Given the description of an element on the screen output the (x, y) to click on. 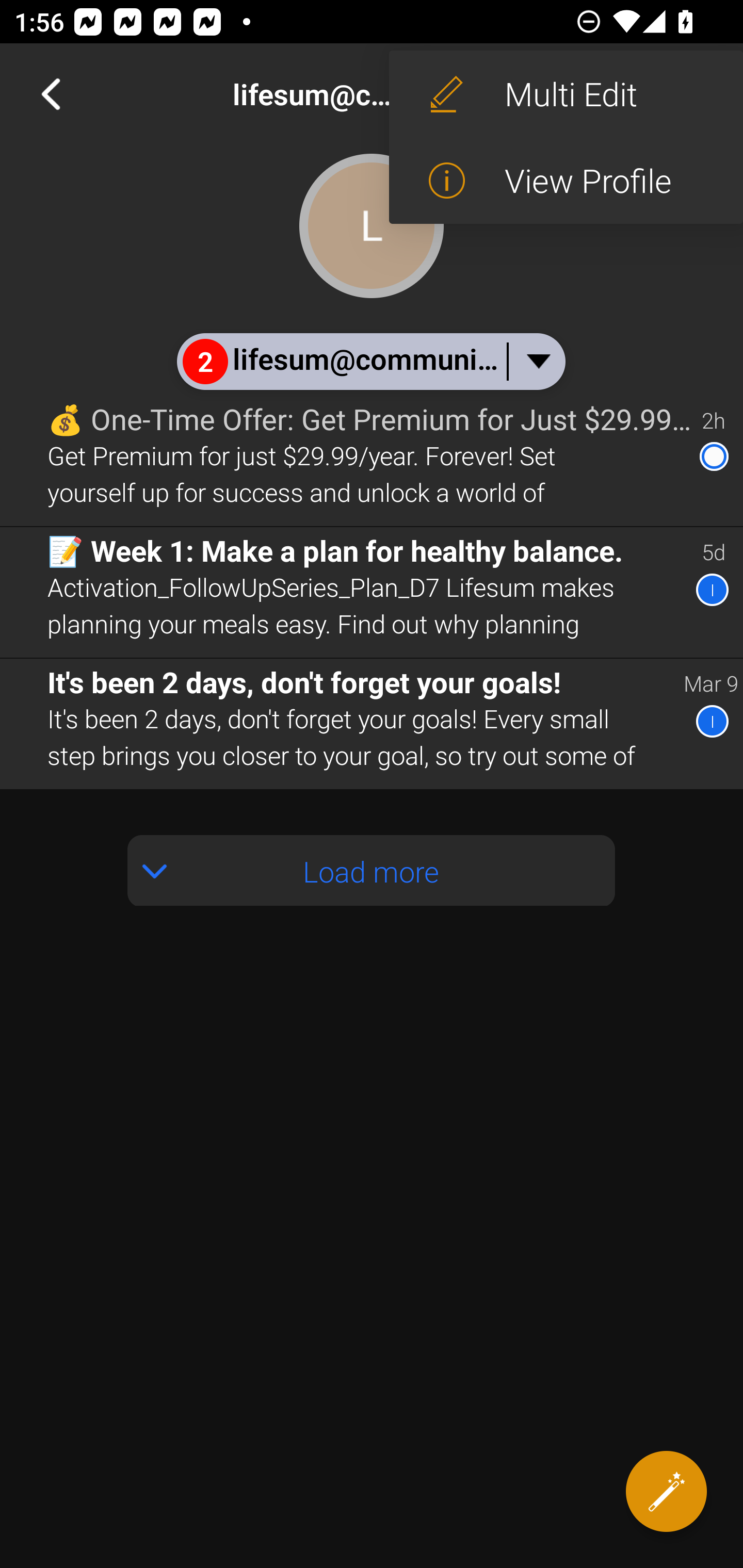
Multi Edit (566, 93)
View Profile (566, 180)
